Given the description of an element on the screen output the (x, y) to click on. 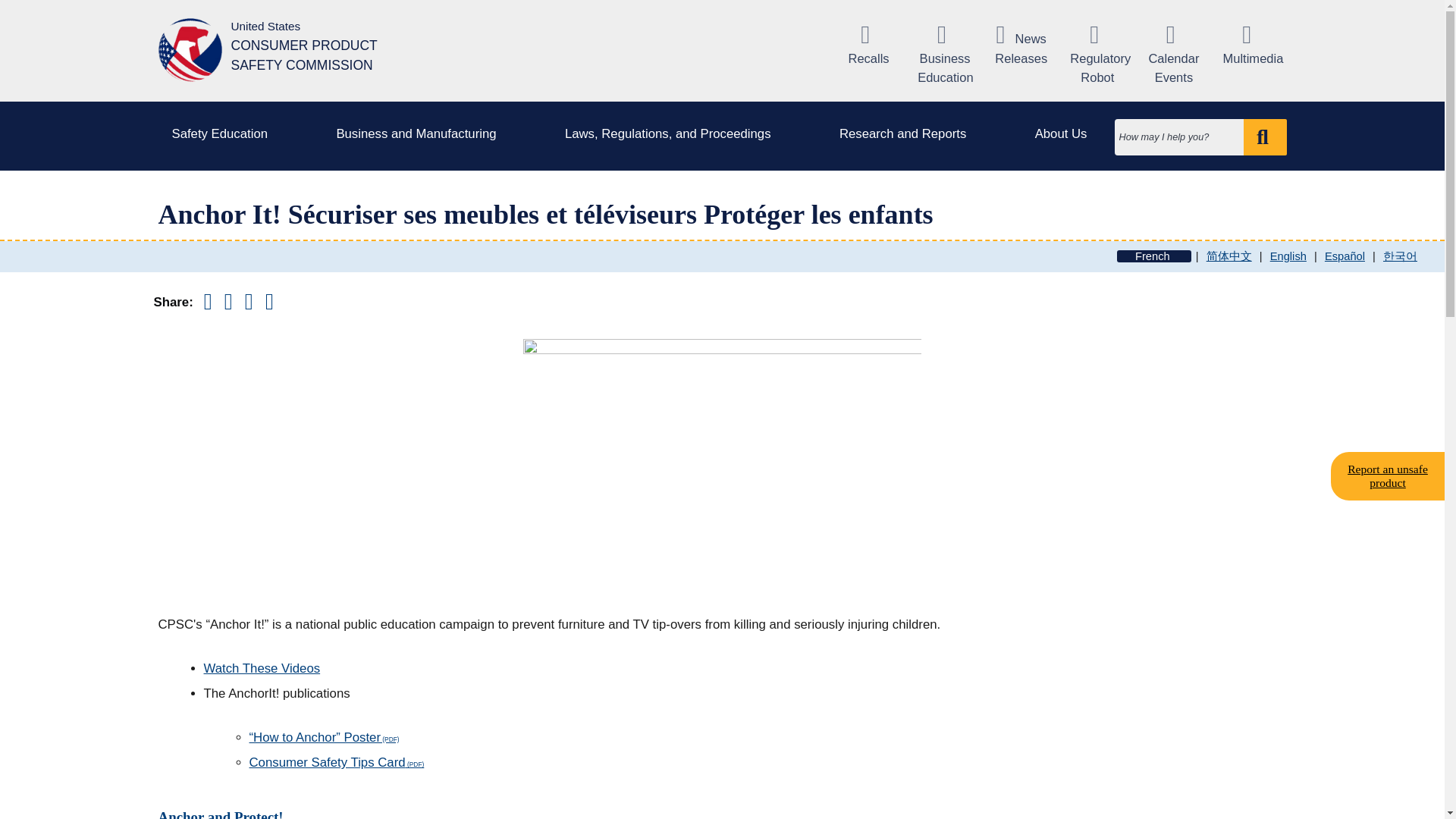
News Releases (1021, 45)
Share it on Facebook (208, 301)
  Regulatory Robot (1097, 55)
Share it on Twitter (228, 301)
Research and Reports (906, 134)
Safety Education (223, 134)
Copy link and share (248, 301)
English (1287, 256)
Watch These Videos (261, 667)
Regulatory Robot (1097, 55)
  Multimedia (1248, 45)
View this page in English (1287, 256)
  News Releases (1021, 45)
  Recalls (868, 45)
Recalls (868, 45)
